Given the description of an element on the screen output the (x, y) to click on. 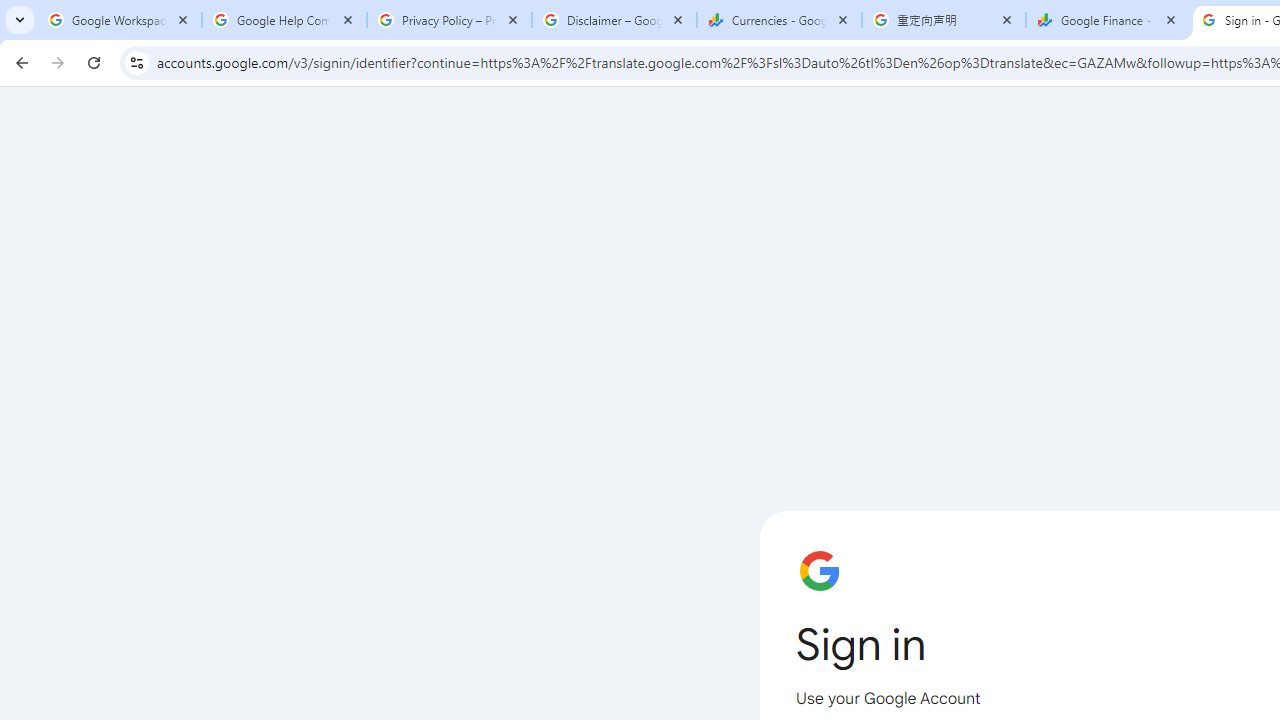
Currencies - Google Finance (779, 20)
Google Workspace Admin Community (119, 20)
